Given the description of an element on the screen output the (x, y) to click on. 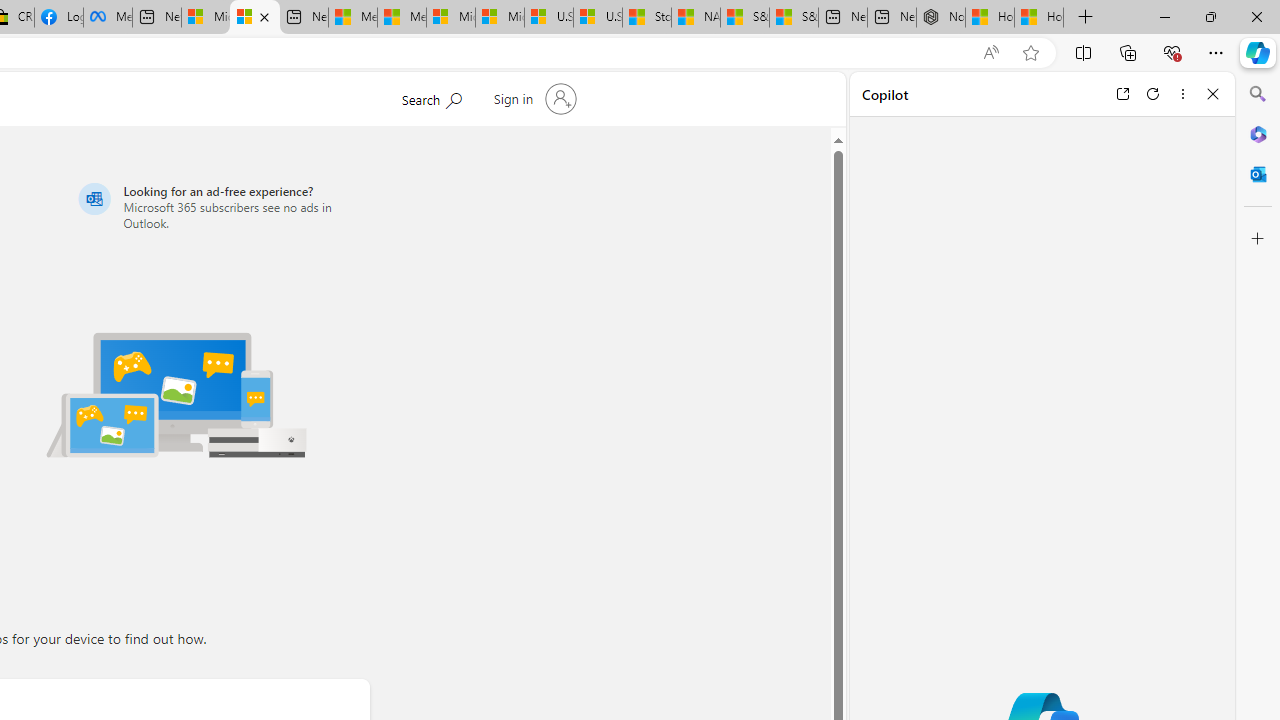
Copilot (Ctrl+Shift+.) (1258, 52)
Minimize (1164, 16)
Browser essentials (1171, 52)
Close tab (264, 16)
Add this page to favorites (Ctrl+D) (1030, 53)
Microsoft account | Privacy (254, 17)
Read aloud this page (Ctrl+Shift+U) (991, 53)
How to Use a Monitor With Your Closed Laptop (1039, 17)
Close (1213, 93)
Looking for an ad-free experience? (220, 206)
Search (1258, 94)
Split screen (1083, 52)
Settings and more (Alt+F) (1215, 52)
